Given the description of an element on the screen output the (x, y) to click on. 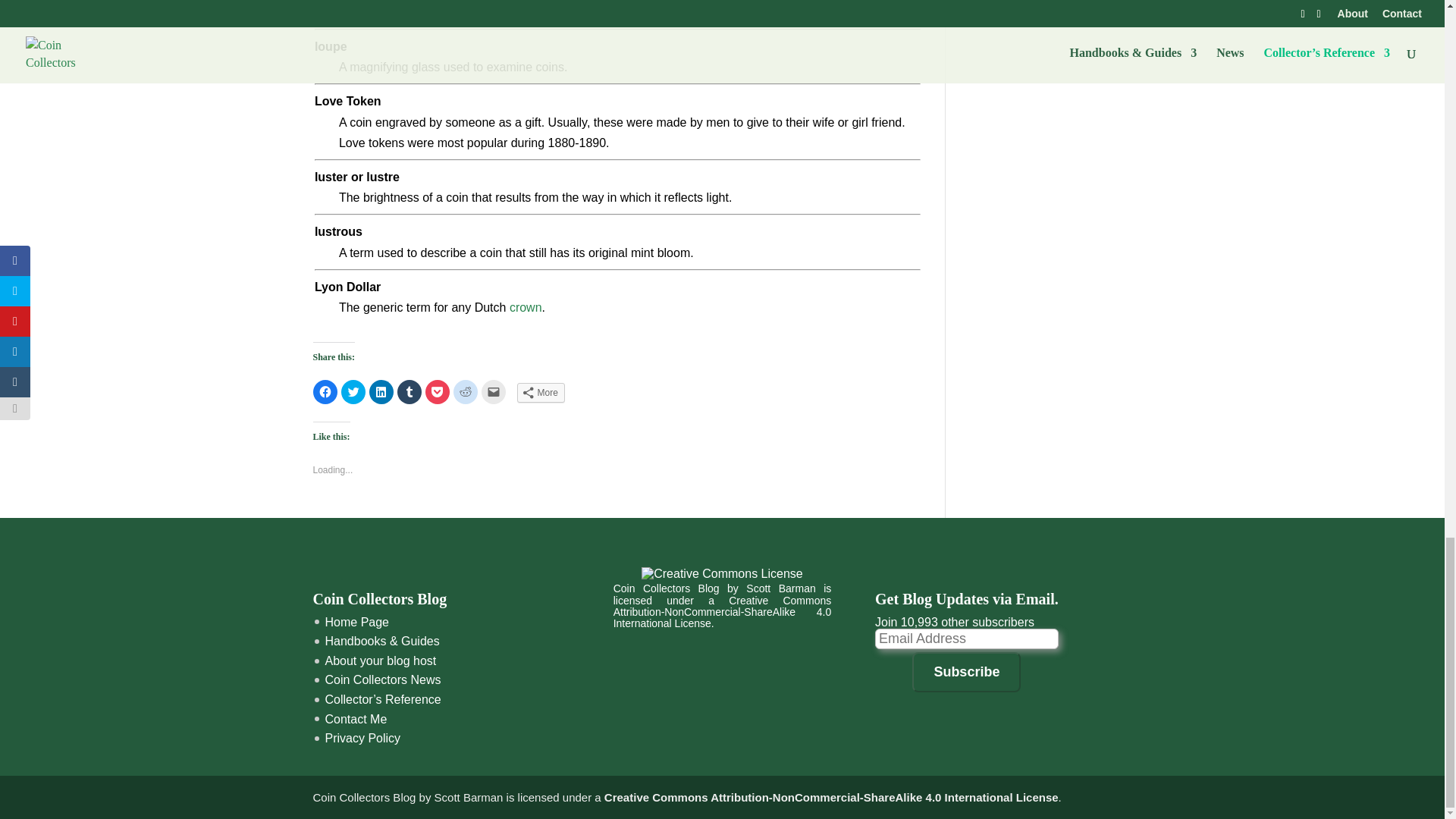
Click to share on Pocket (436, 391)
Click to email a link to a friend (492, 391)
Click to share on Reddit (464, 391)
Click to share on Twitter (352, 391)
Click to share on Tumblr (409, 391)
Click to share on LinkedIn (380, 391)
Click to share on Facebook (324, 391)
